Given the description of an element on the screen output the (x, y) to click on. 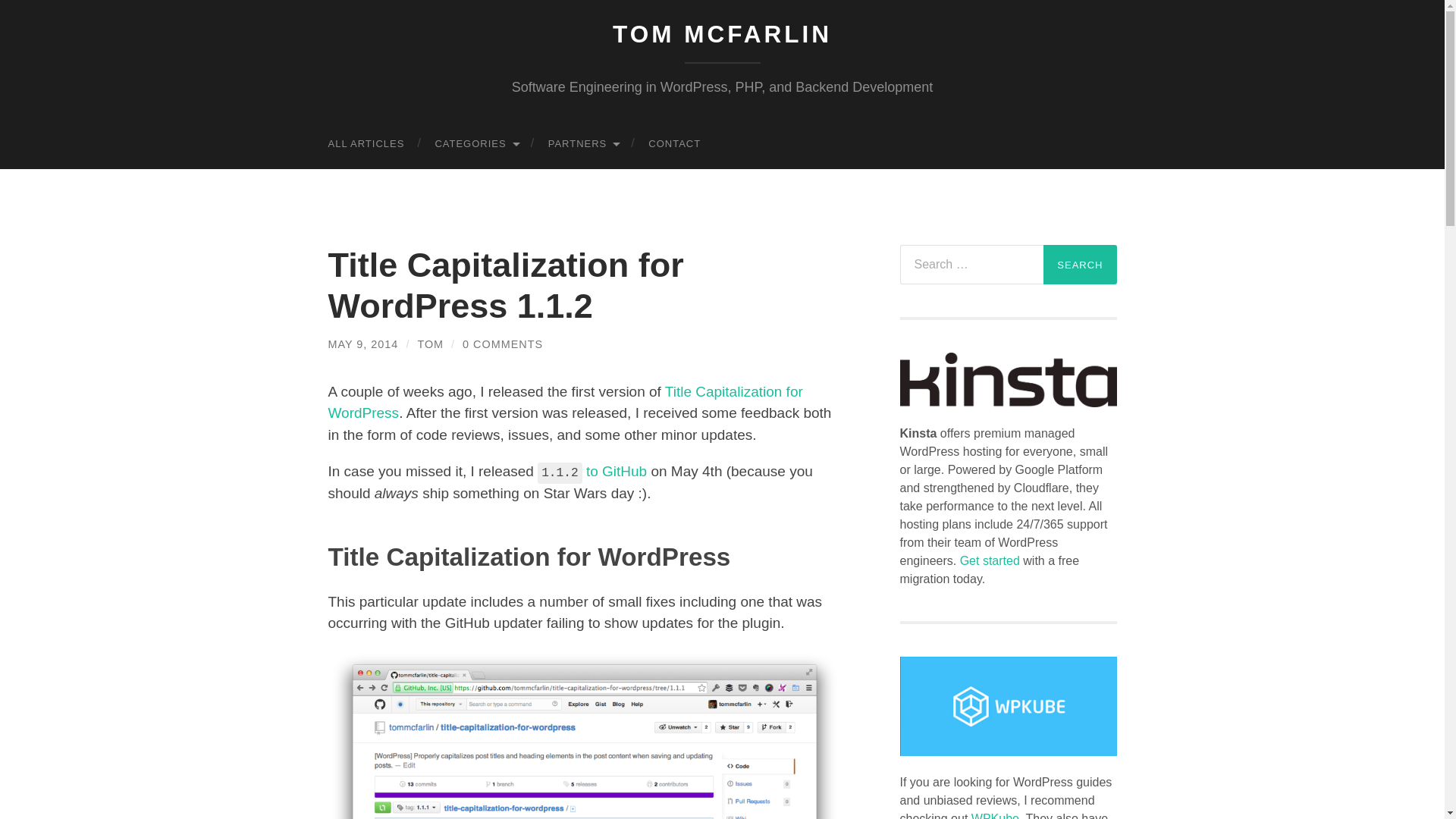
Posts by Tom (430, 344)
MAY 9, 2014 (362, 344)
Title Capitalization for WordPress (564, 402)
Search (1079, 264)
Title Capitalization for WordPress 1.1.1 (616, 471)
CATEGORIES (475, 142)
Search (1079, 264)
to GitHub (616, 471)
PARTNERS (582, 142)
Title Capitalization for WordPress (564, 402)
